Given the description of an element on the screen output the (x, y) to click on. 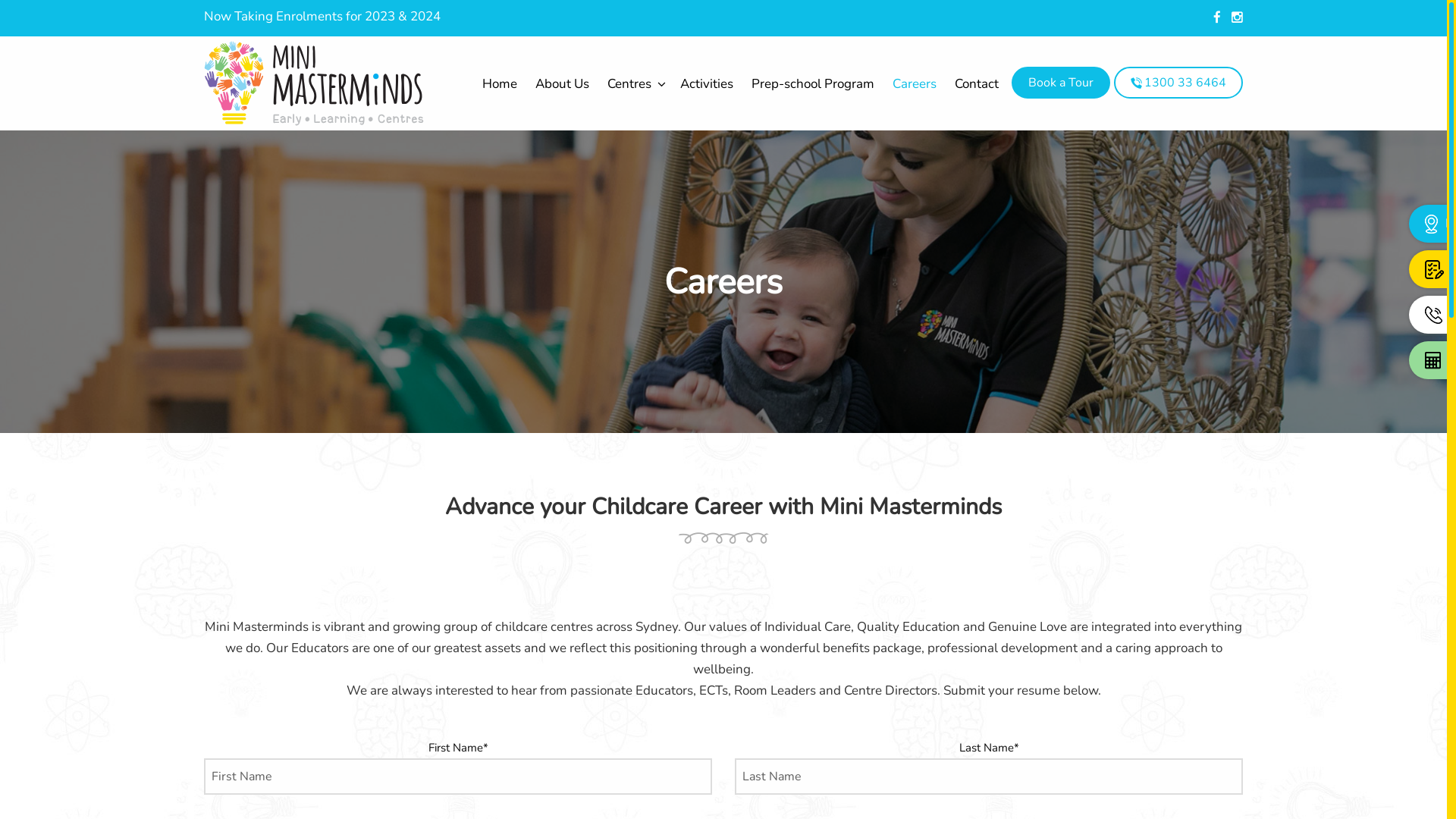
1300 33 6464 Element type: text (1177, 82)
Activities Element type: text (706, 83)
Book a Tour Element type: text (1060, 82)
Careers Element type: text (914, 83)
Prep-school Program Element type: text (812, 83)
Home Element type: text (499, 83)
About Us Element type: text (562, 83)
Contact Element type: text (976, 83)
Centres Element type: text (634, 83)
